Given the description of an element on the screen output the (x, y) to click on. 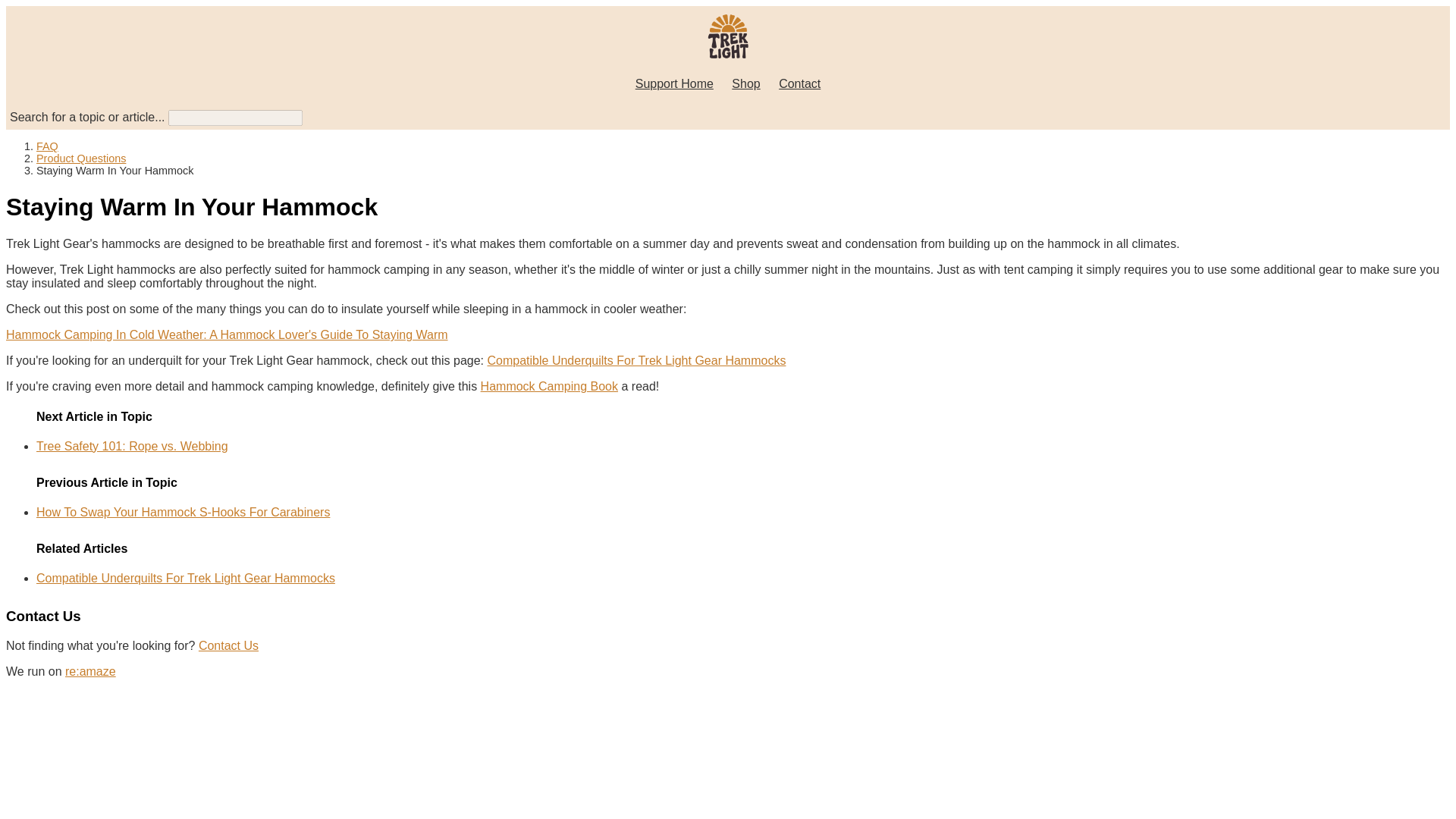
Shop (746, 83)
Contact (799, 83)
Compatible Underquilts For Trek Light Gear Hammocks (185, 577)
Compatible Underquilts For Trek Light Gear Hammocks (636, 359)
Hammock Camping Book (548, 386)
Contact Us (228, 645)
How To Swap Your Hammock S-Hooks For Carabiners (183, 512)
Tree Safety 101: Rope vs. Webbing (132, 445)
FAQ (47, 146)
Support Home (673, 83)
Product Questions (80, 158)
